Given the description of an element on the screen output the (x, y) to click on. 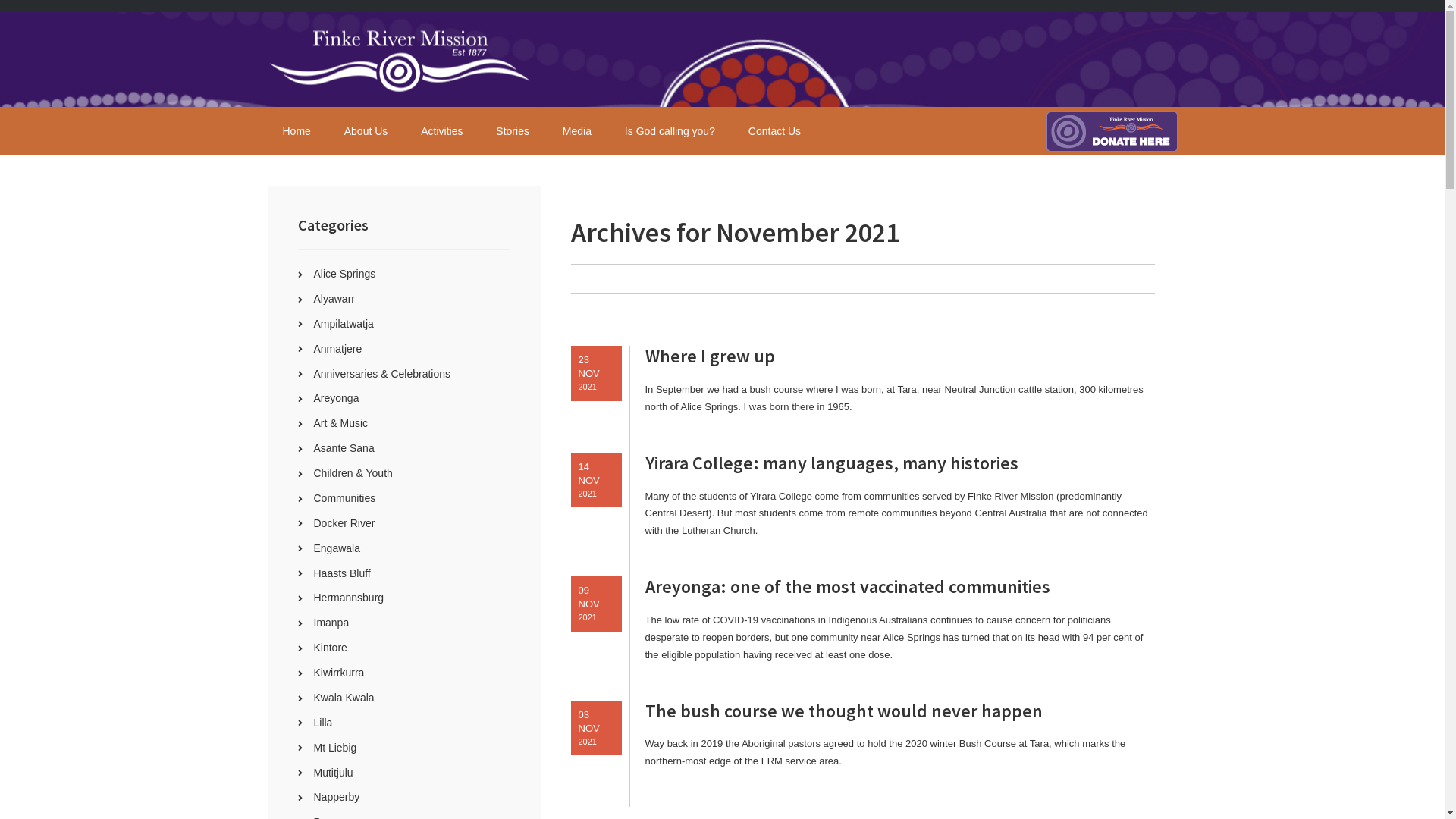
Art & Music Element type: text (340, 423)
Areyonga Element type: text (336, 398)
Lilla Element type: text (322, 722)
Asante Sana Element type: text (343, 448)
Anmatjere Element type: text (337, 348)
Docker River Element type: text (344, 523)
Stories Element type: text (512, 130)
Finke River Mission Element type: text (399, 59)
Imanpa Element type: text (331, 622)
Yirara College: many languages, many histories Element type: text (899, 463)
About Us Element type: text (366, 130)
Anniversaries & Celebrations Element type: text (382, 373)
Contact Us Element type: text (774, 130)
Haasts Bluff Element type: text (341, 573)
Hermannsburg Element type: text (348, 597)
The bush course we thought would never happen Element type: text (899, 711)
Children & Youth Element type: text (352, 473)
Home Element type: text (295, 130)
Alyawarr Element type: text (333, 298)
Mt Liebig Element type: text (335, 747)
Kwala Kwala Element type: text (343, 697)
Kintore Element type: text (330, 647)
Areyonga: one of the most vaccinated communities Element type: text (899, 587)
Ampilatwatja Element type: text (343, 323)
Where I grew up Element type: text (899, 356)
Kiwirrkurra Element type: text (338, 672)
Media Element type: text (576, 130)
Napperby Element type: text (336, 796)
Skip to primary navigation Element type: text (0, 0)
Mutitjulu Element type: text (333, 771)
Is God calling you? Element type: text (669, 130)
Engawala Element type: text (336, 548)
Activities Element type: text (441, 130)
Communities Element type: text (344, 498)
Alice Springs Element type: text (344, 273)
